Given the description of an element on the screen output the (x, y) to click on. 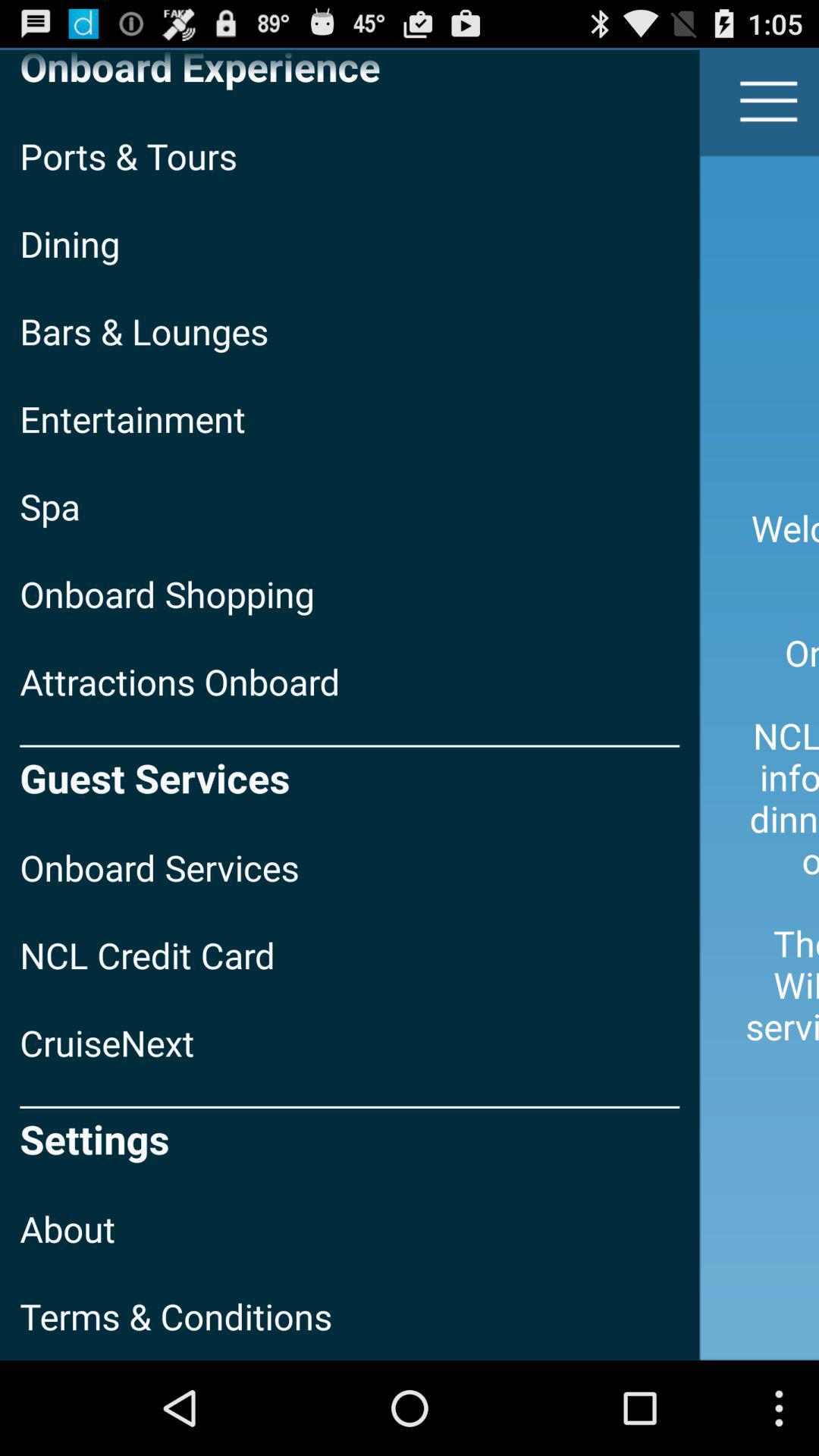
launch the item to the right of the onboard experience item (769, 101)
